Given the description of an element on the screen output the (x, y) to click on. 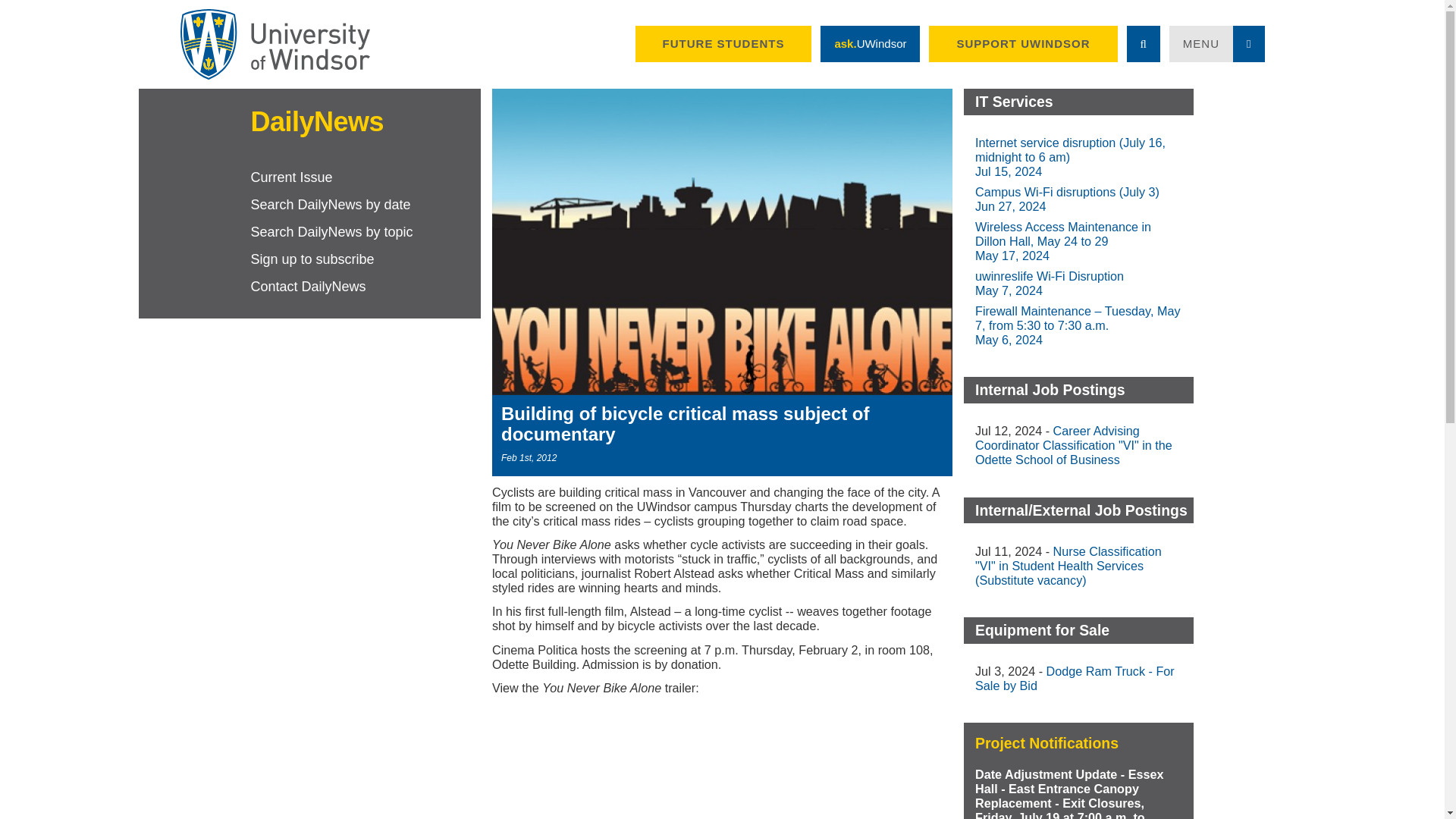
Go to DailyNews home page (309, 121)
Subscribe to DailyNews (365, 258)
Home (274, 44)
